Given the description of an element on the screen output the (x, y) to click on. 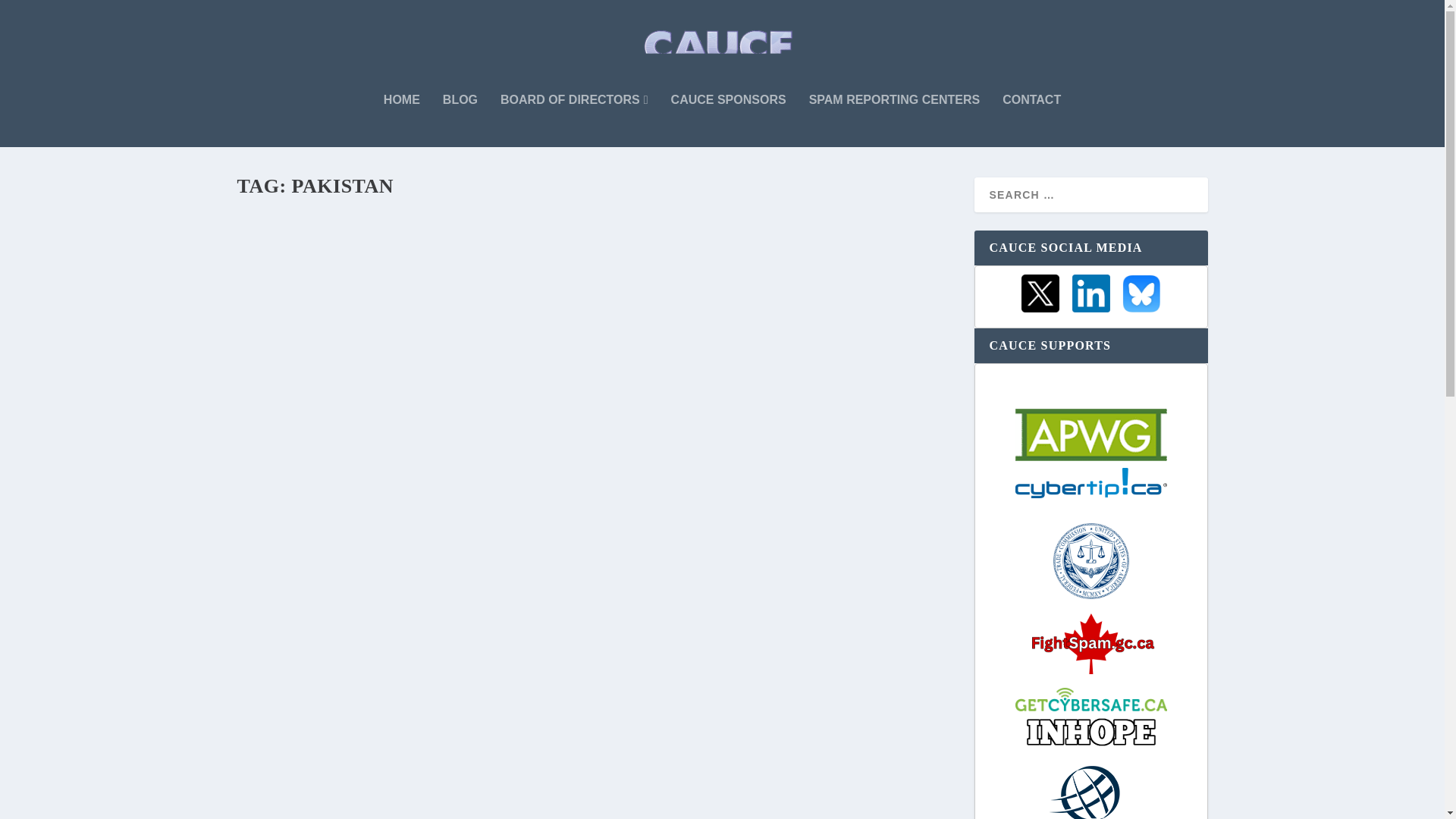
SPAM REPORTING CENTERS (894, 120)
CONTACT (1032, 120)
CAUCE SPONSORS (728, 120)
BOARD OF DIRECTORS (573, 120)
